Given the description of an element on the screen output the (x, y) to click on. 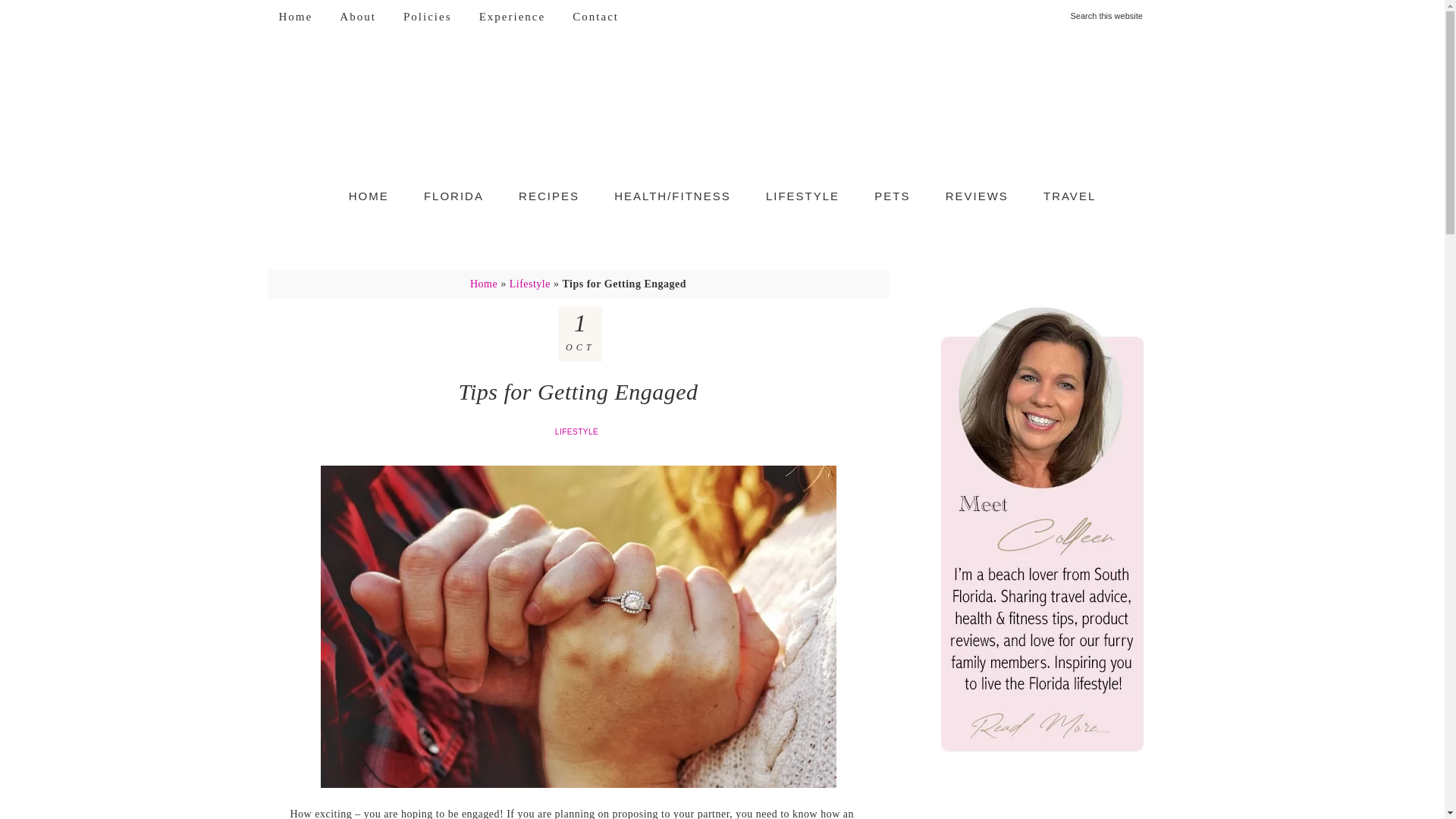
RECIPES (548, 196)
Lifestyle (529, 283)
REVIEWS (976, 196)
Policies (427, 17)
TRAVEL (1068, 196)
About (358, 17)
Contact (595, 17)
PETS (891, 196)
LIFESTYLE (802, 196)
Home (294, 17)
SHIBLEY SMILES (722, 108)
FLORIDA (454, 196)
LIFESTYLE (577, 431)
Home (483, 283)
HOME (368, 196)
